Given the description of an element on the screen output the (x, y) to click on. 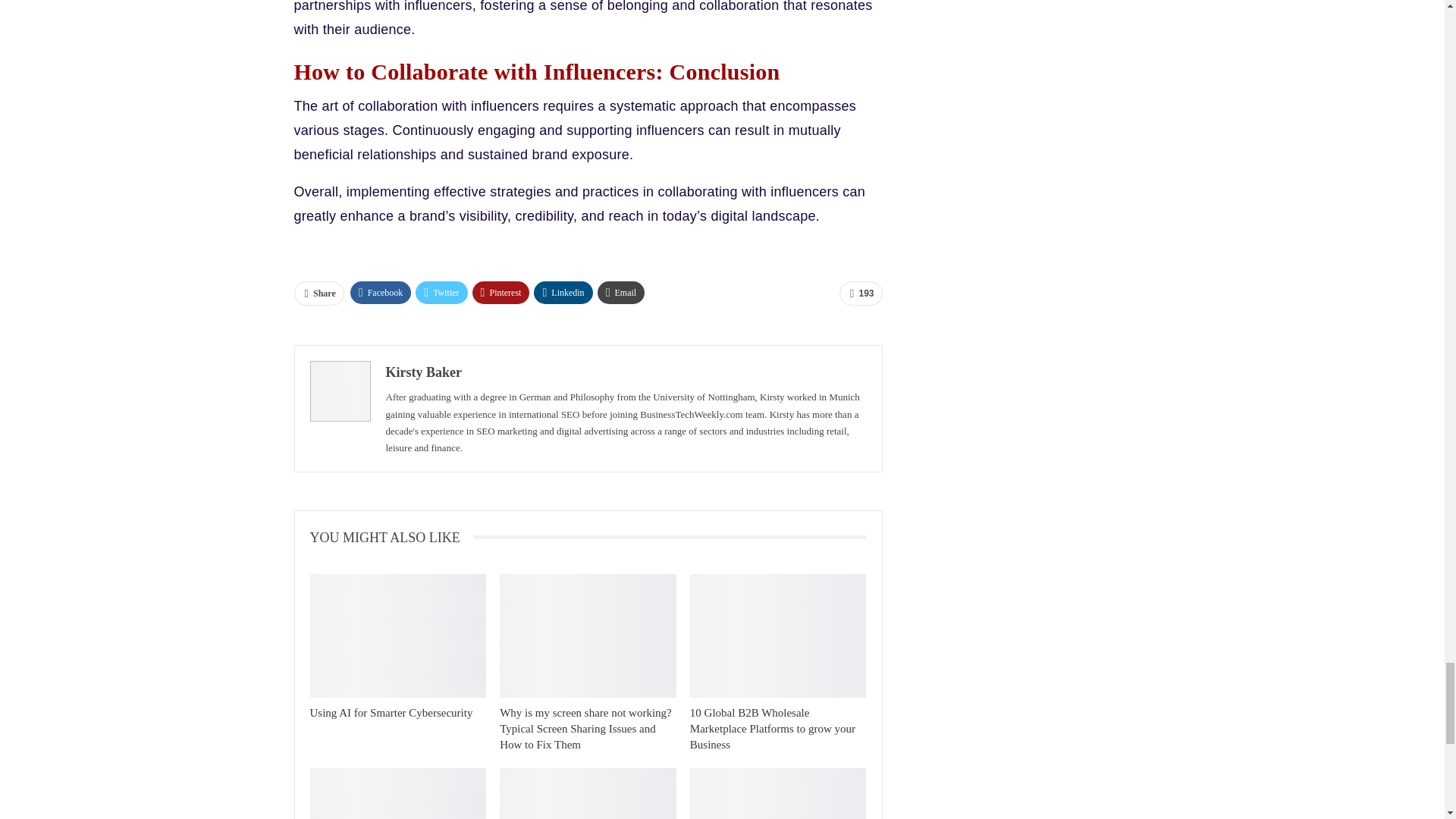
Twitter (440, 292)
Pinterest (500, 292)
Best DSL Modem Routers for Business (588, 793)
Using AI for Smarter Cybersecurity (389, 712)
Facebook (381, 292)
Linkedin (563, 292)
Using AI for Smarter Cybersecurity (397, 635)
